Given the description of an element on the screen output the (x, y) to click on. 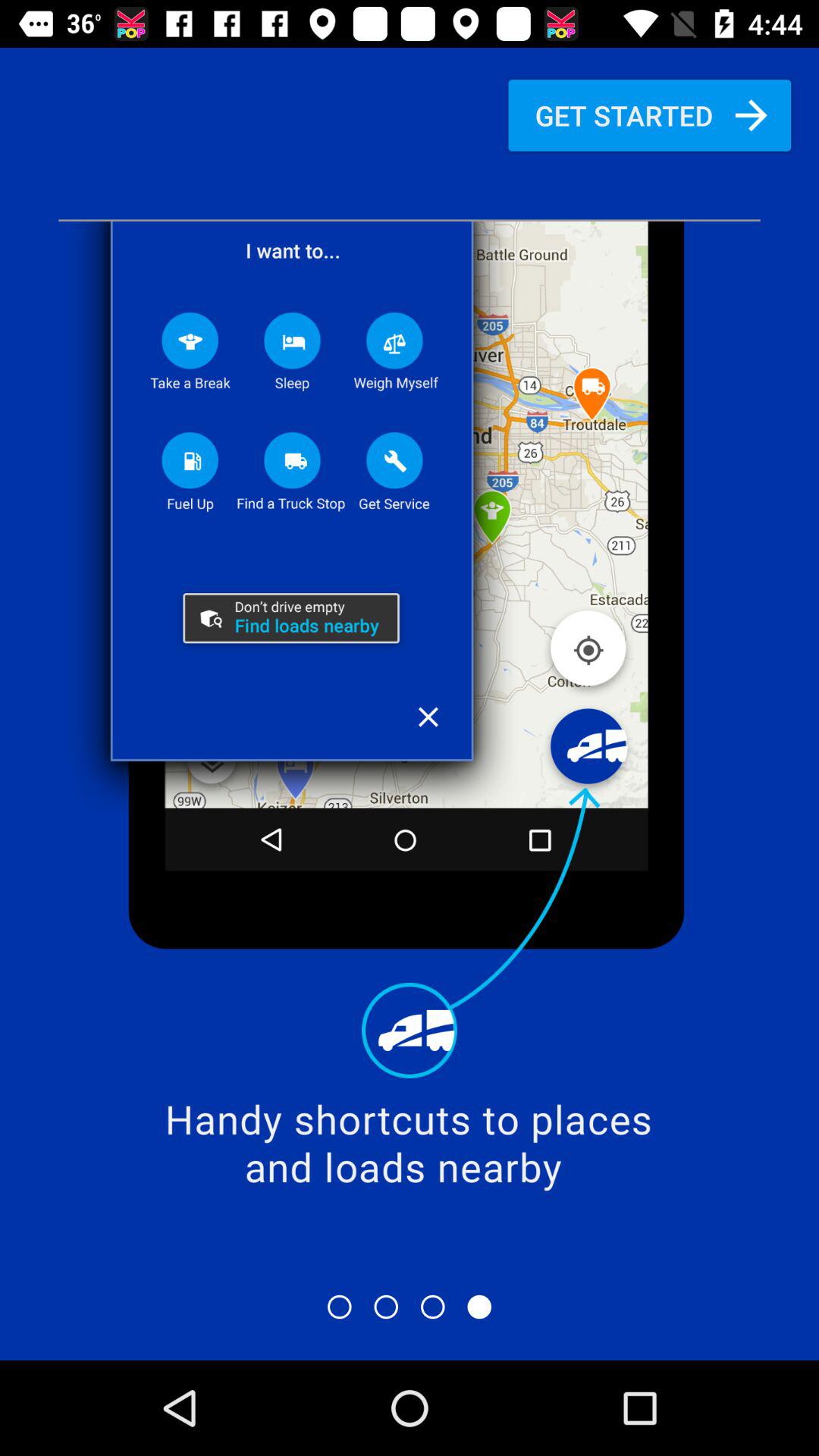
swipe to the get started (649, 115)
